Given the description of an element on the screen output the (x, y) to click on. 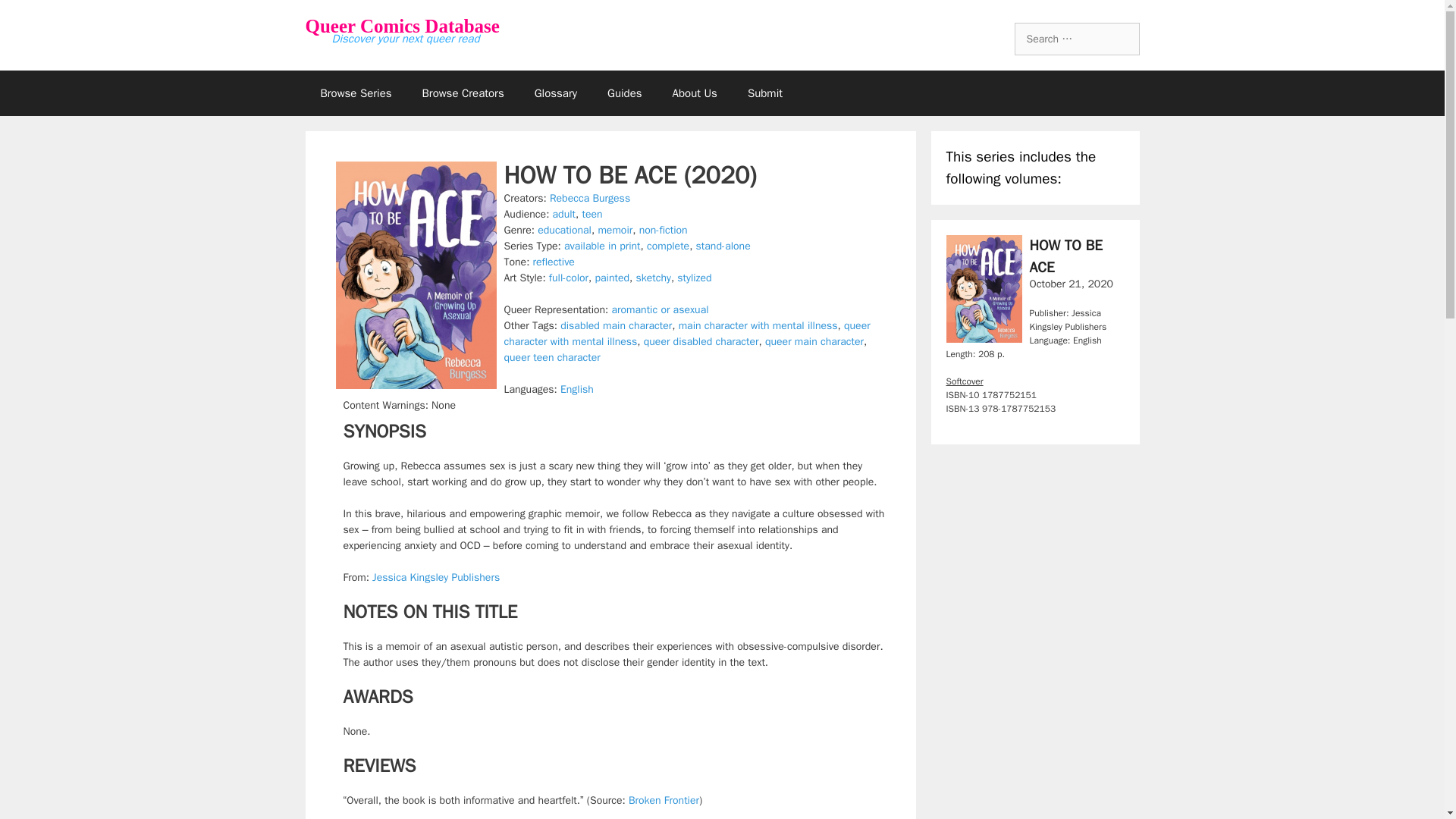
queer disabled character (700, 341)
painted (611, 277)
Browse Creators (463, 93)
queer teen character (551, 357)
English (577, 389)
queer character with mental illness (686, 333)
Guides (625, 93)
reflective (553, 261)
stand-alone (723, 245)
memoir (613, 229)
full-color (568, 277)
HOW TO BE ACE (1065, 256)
educational (564, 229)
sketchy (651, 277)
Submit (764, 93)
